Given the description of an element on the screen output the (x, y) to click on. 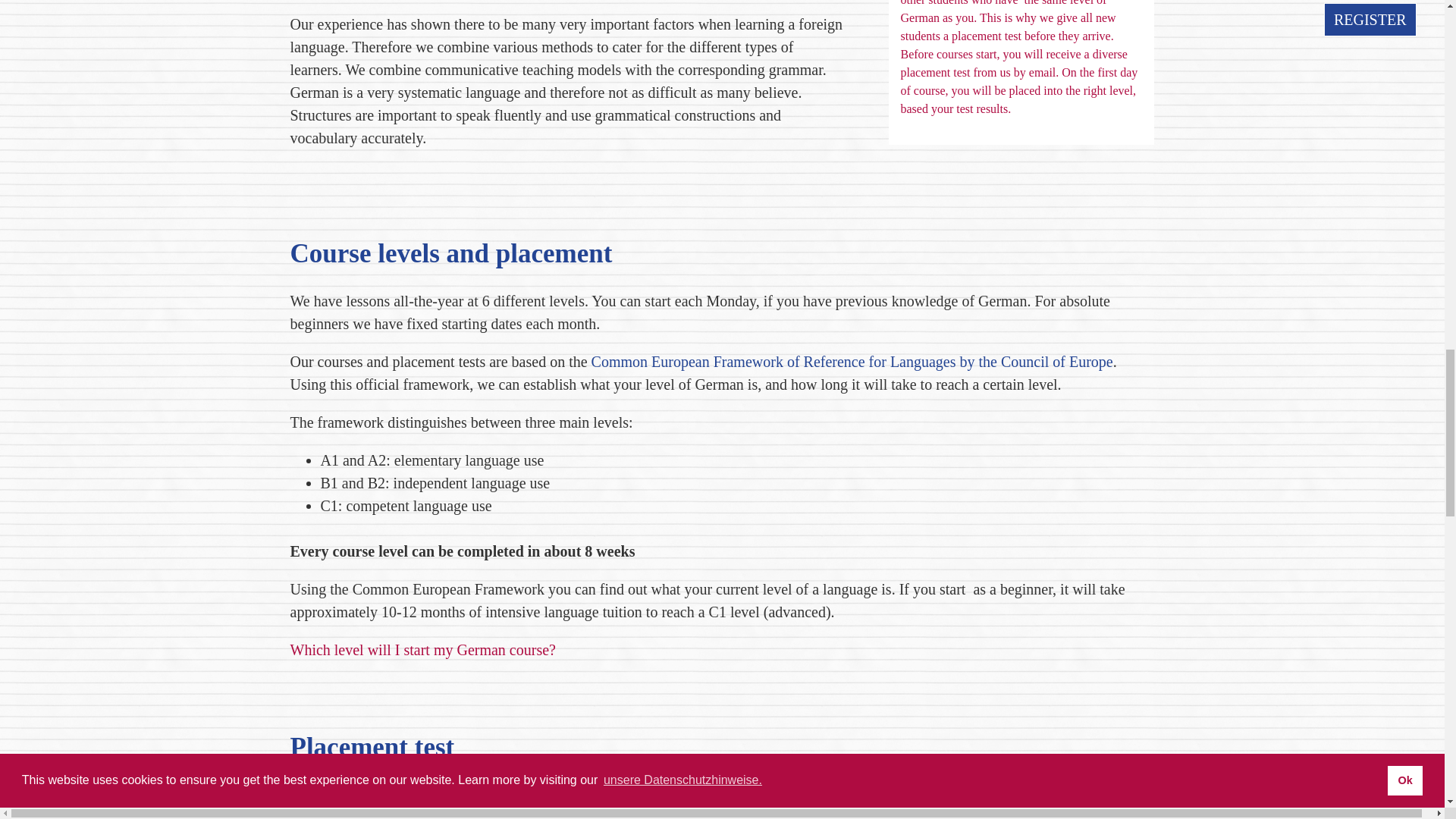
Which level will I start my German course? (421, 649)
